Given the description of an element on the screen output the (x, y) to click on. 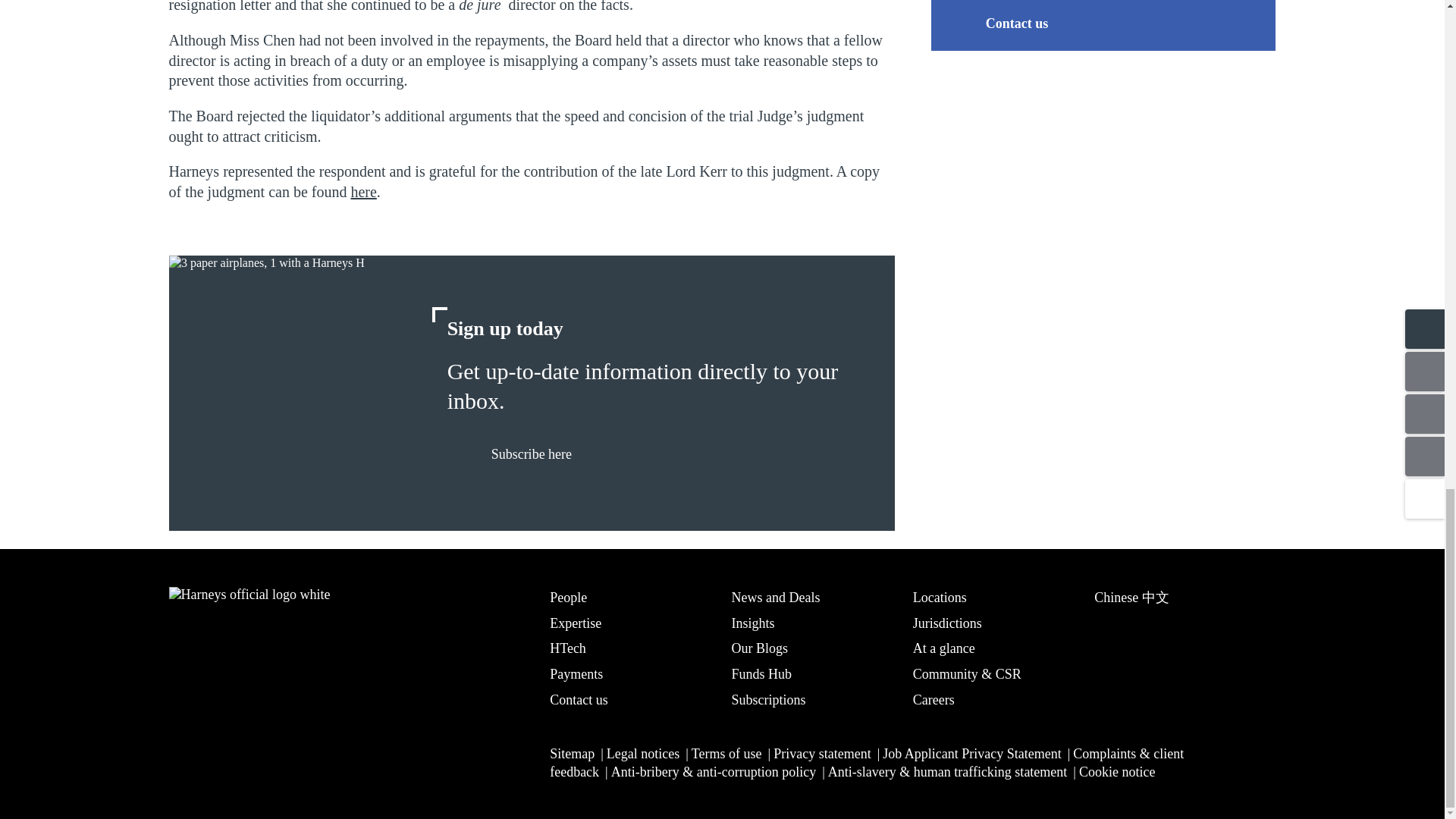
here (362, 191)
Click to open (362, 191)
Contact us (995, 23)
HTech (631, 647)
x (219, 756)
linkedIn (180, 756)
People (631, 596)
Expertise (631, 622)
